Given the description of an element on the screen output the (x, y) to click on. 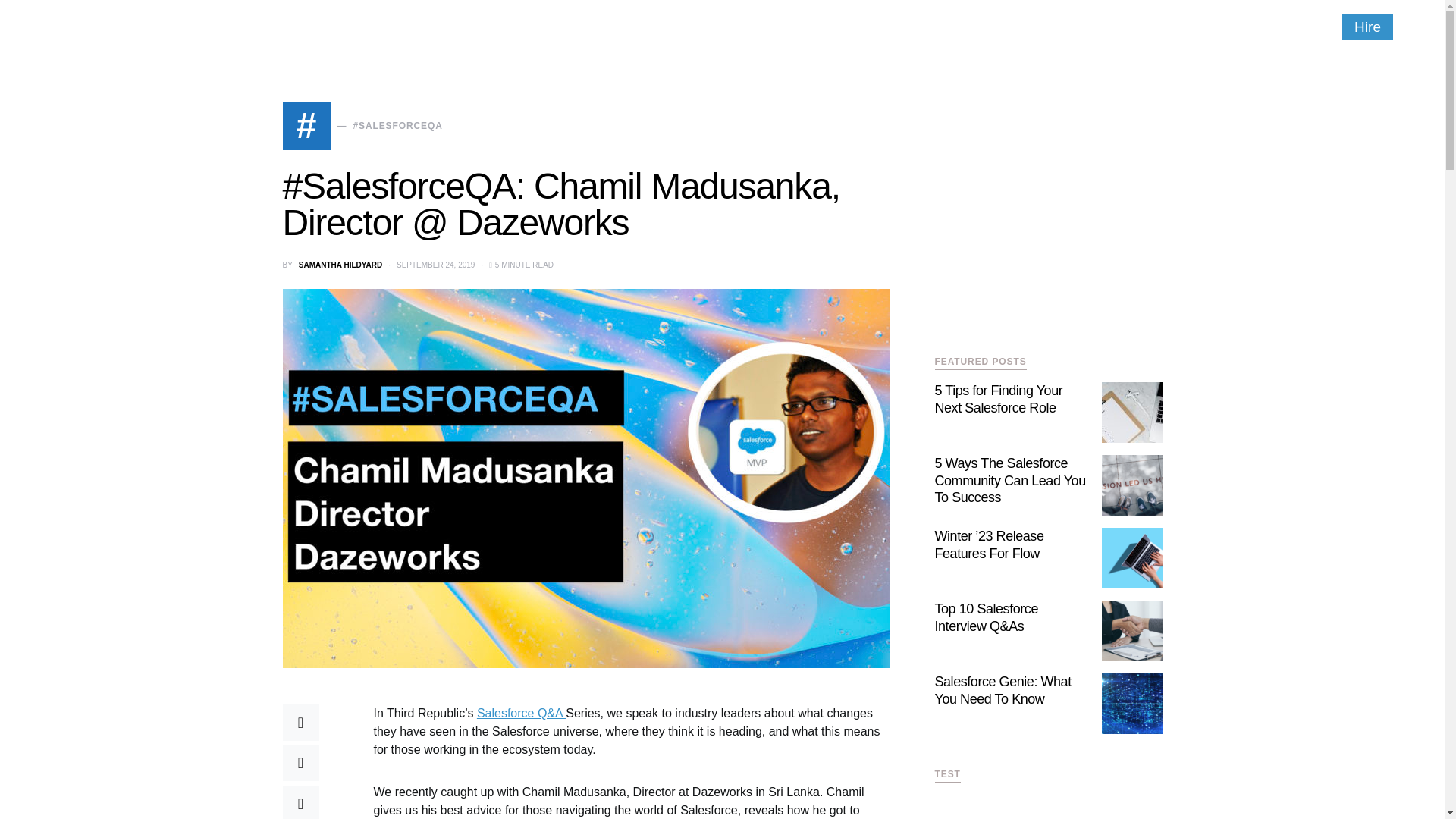
Hire (1367, 26)
SALESFORCE JOBS (768, 26)
SALARY GUIDE (676, 26)
INSIGHTS (317, 26)
View all posts by Samantha Hildyard (339, 265)
FEATURED EMPLOYERS (514, 26)
SALESFORCE REPUBLIC (138, 25)
EVENTS (605, 26)
